Given the description of an element on the screen output the (x, y) to click on. 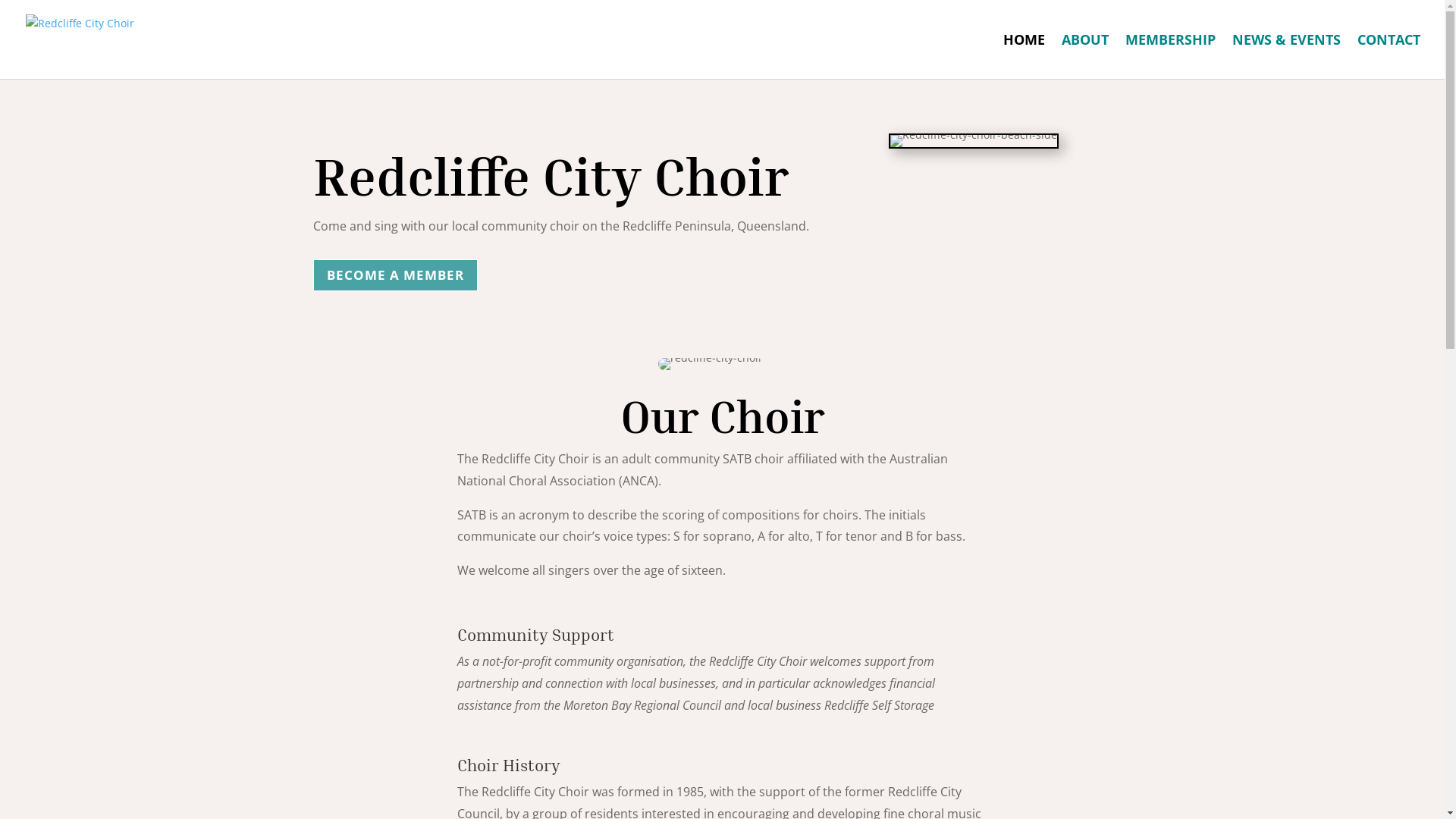
Singing by the bay Element type: hover (973, 140)
MEMBERSHIP Element type: text (1170, 56)
HOME Element type: text (1023, 56)
CONTACT Element type: text (1388, 56)
NEWS & EVENTS Element type: text (1286, 56)
Redcliffe City Choir home page banner Element type: hover (100, 66)
ABOUT Element type: text (1084, 56)
BECOME A MEMBER Element type: text (394, 274)
RCC favicon Element type: hover (710, 363)
